Given the description of an element on the screen output the (x, y) to click on. 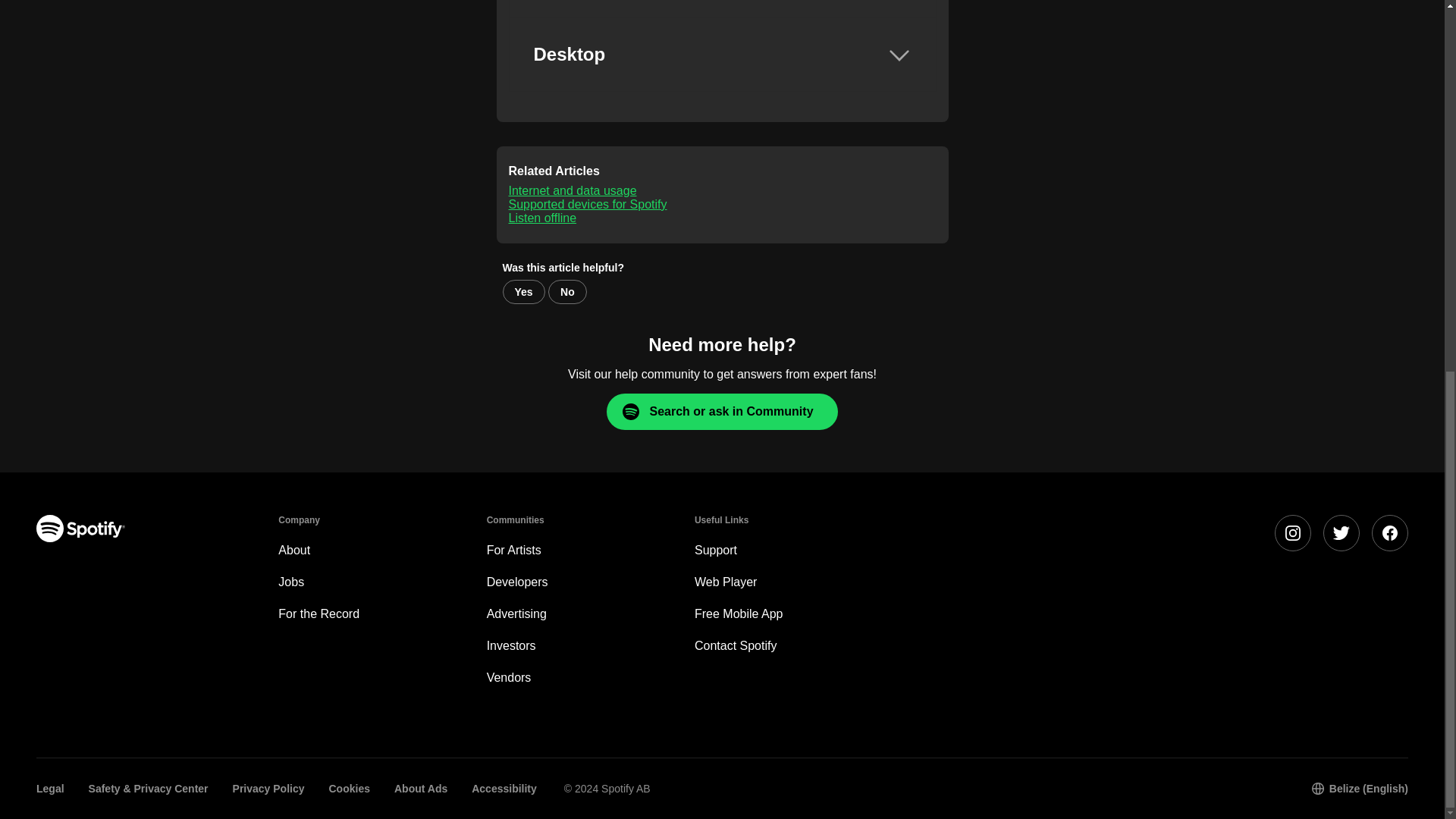
Android (722, 8)
Spotify (80, 528)
Desktop (722, 54)
Internet and data usage (572, 190)
